Given the description of an element on the screen output the (x, y) to click on. 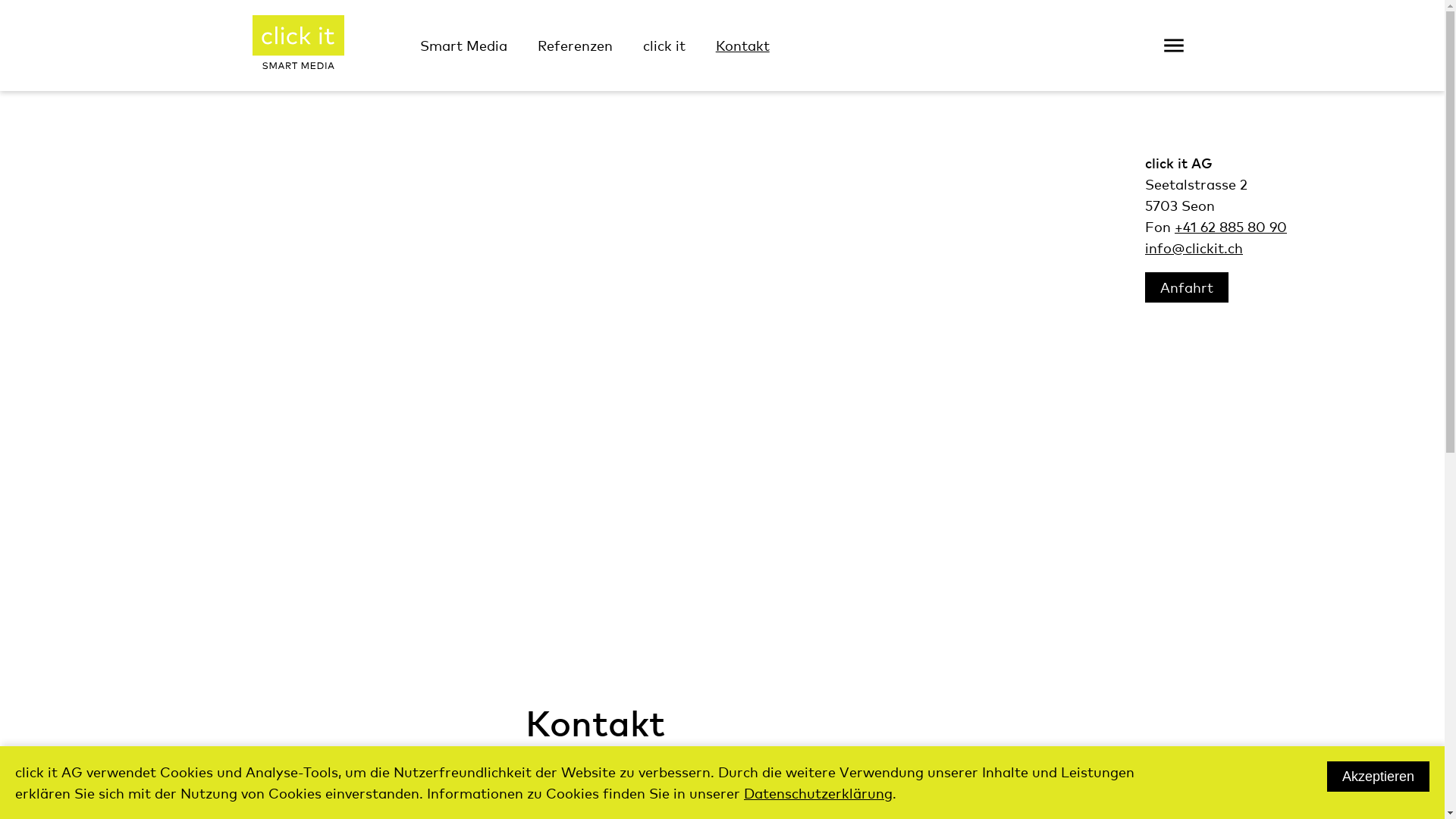
Akzeptieren Element type: text (1378, 776)
Kontakt Element type: text (742, 45)
Anfahrt Element type: text (1186, 287)
Smart Media Element type: text (463, 45)
click it Element type: text (664, 45)
Referenzen Element type: text (574, 45)
+41 62 885 80 90 Element type: text (1230, 225)
info@clickit.ch Element type: text (1193, 247)
click it AG Element type: hover (297, 45)
